Given the description of an element on the screen output the (x, y) to click on. 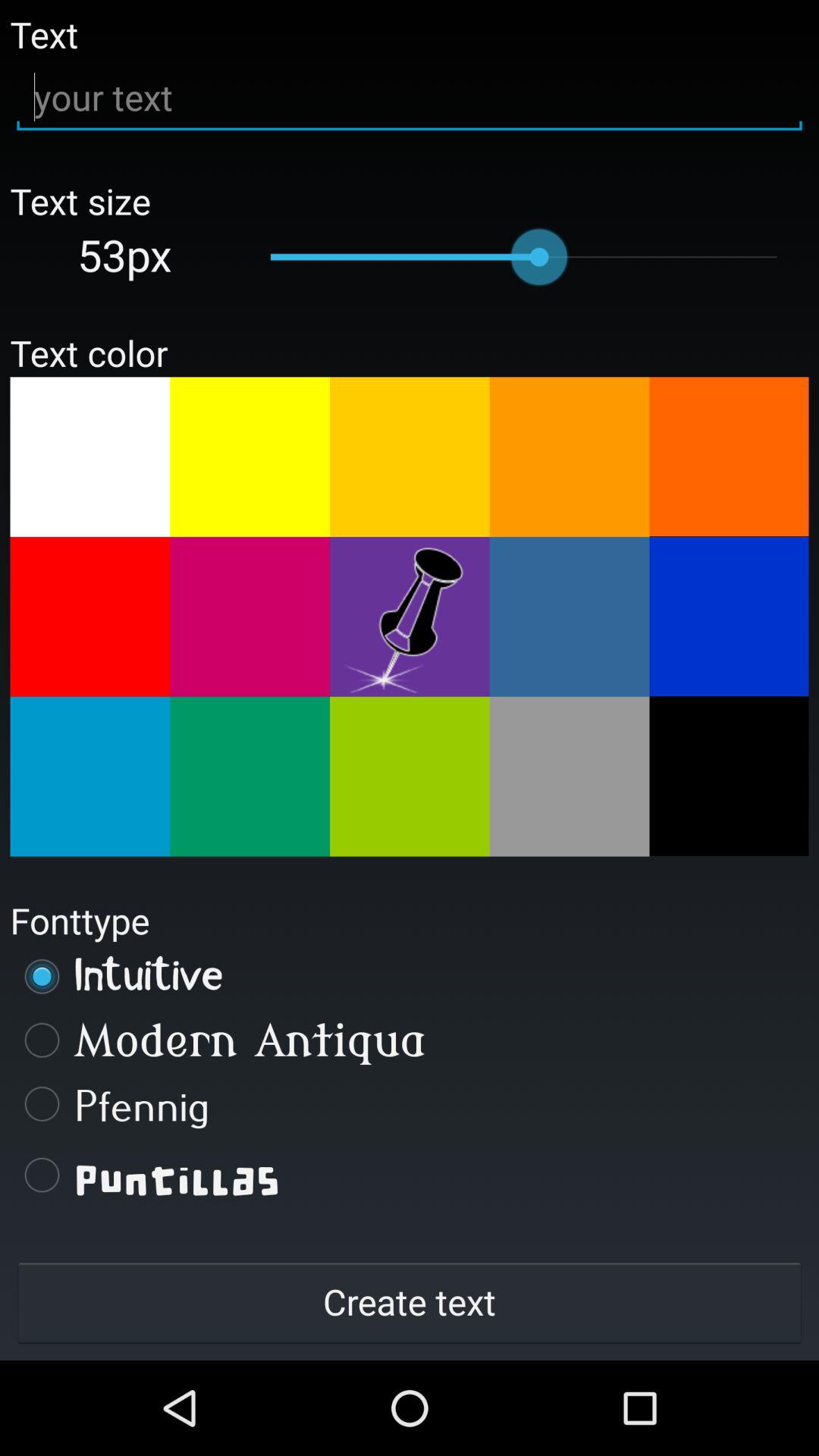
enter your input text here (409, 97)
